Given the description of an element on the screen output the (x, y) to click on. 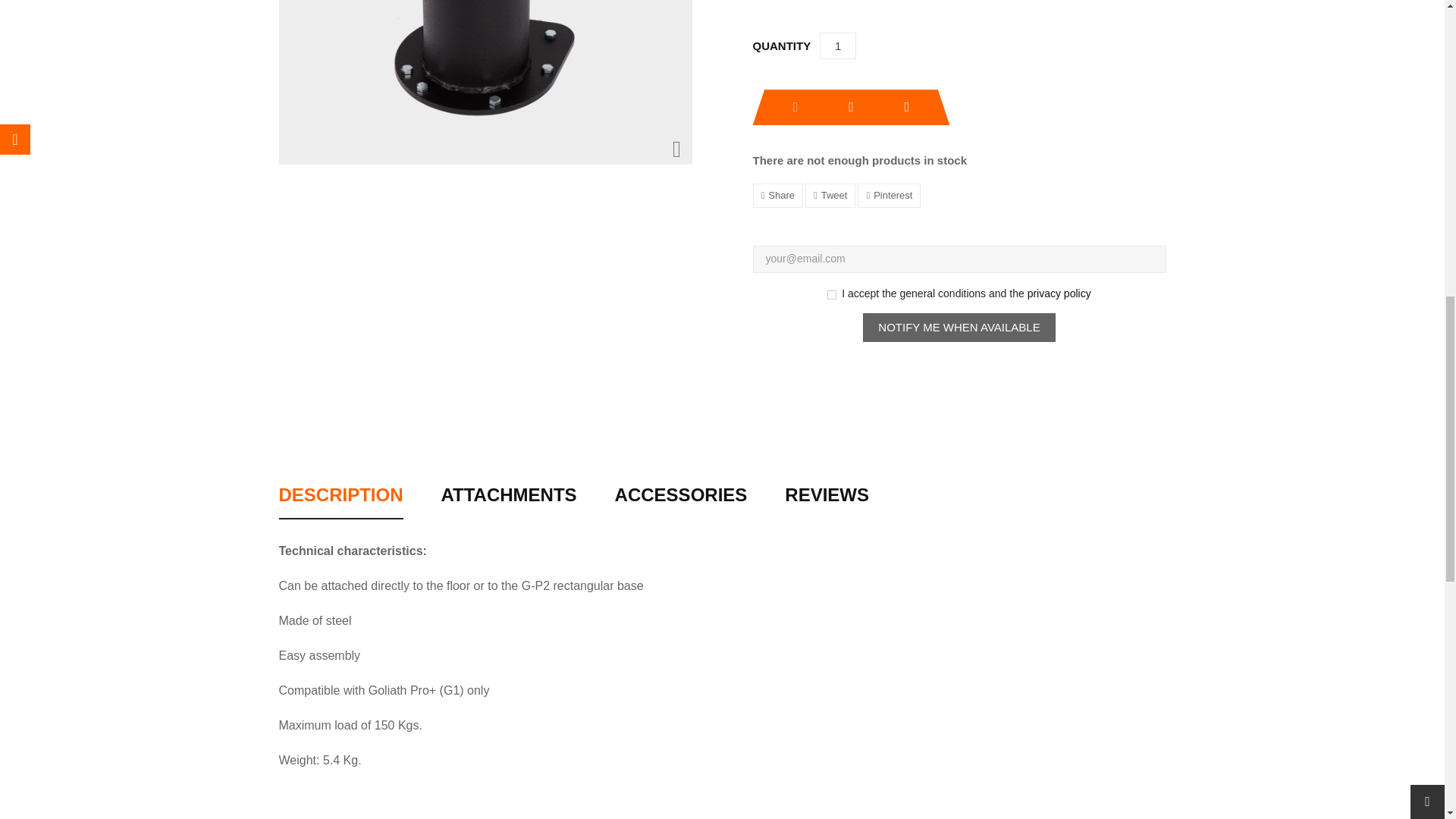
privacy policy (1058, 293)
DESCRIPTION (341, 502)
Share (777, 195)
1 (837, 45)
NOTIFY ME WHEN AVAILABLE (958, 327)
Tweet (830, 195)
Tweet (830, 195)
Share (777, 195)
Pinterest (888, 195)
